Given the description of an element on the screen output the (x, y) to click on. 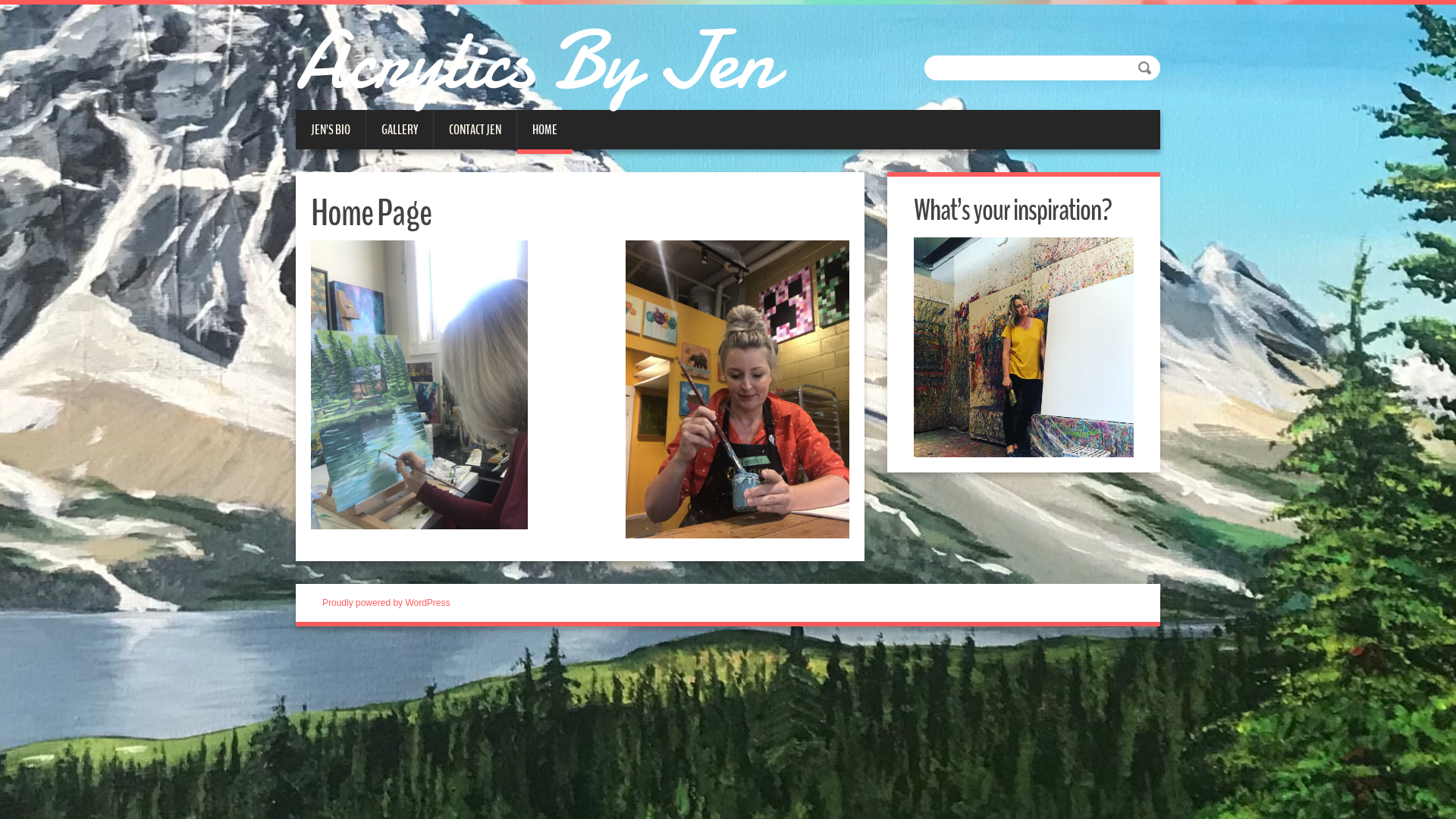
HOME Element type: text (544, 131)
CONTACT JEN Element type: text (474, 129)
GALLERY Element type: text (399, 129)
Proudly powered by WordPress Element type: text (386, 602)
Acrylics By Jen Element type: text (540, 60)
